Given the description of an element on the screen output the (x, y) to click on. 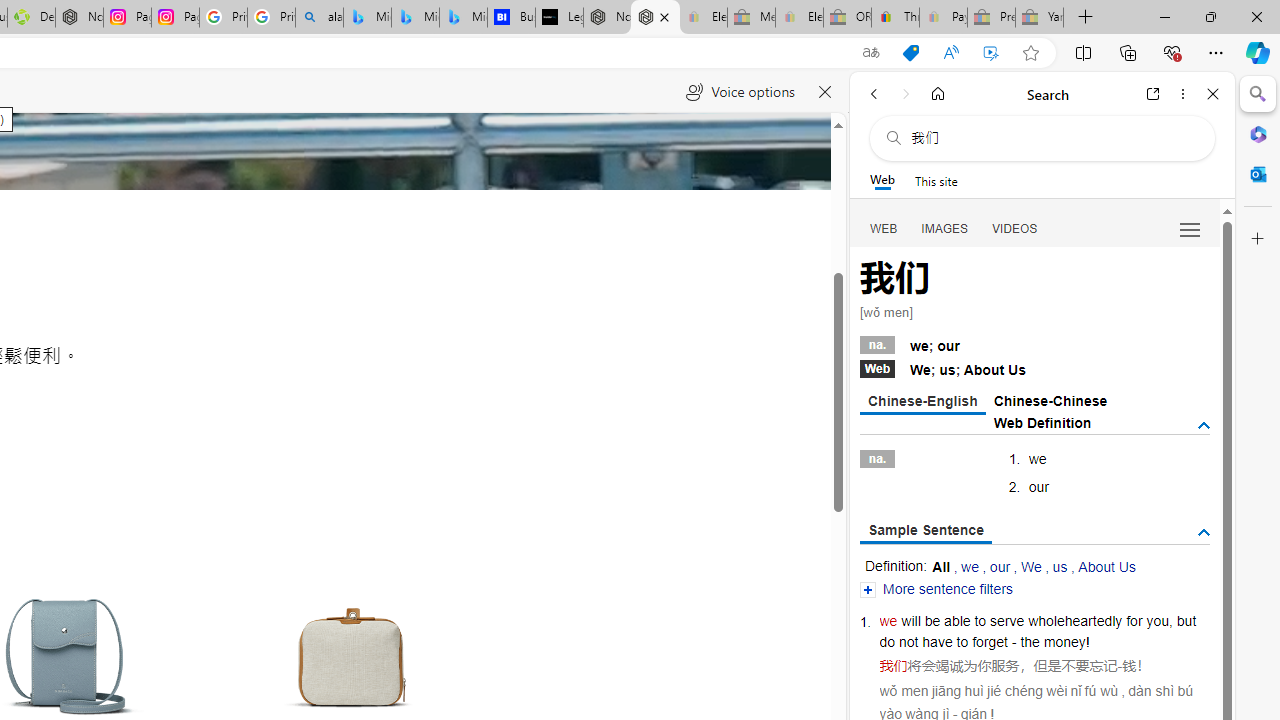
but (1186, 620)
We (1030, 566)
money (1064, 642)
us (1059, 566)
WebWe; us; About Us (1034, 367)
not (908, 642)
you (1157, 620)
